Given the description of an element on the screen output the (x, y) to click on. 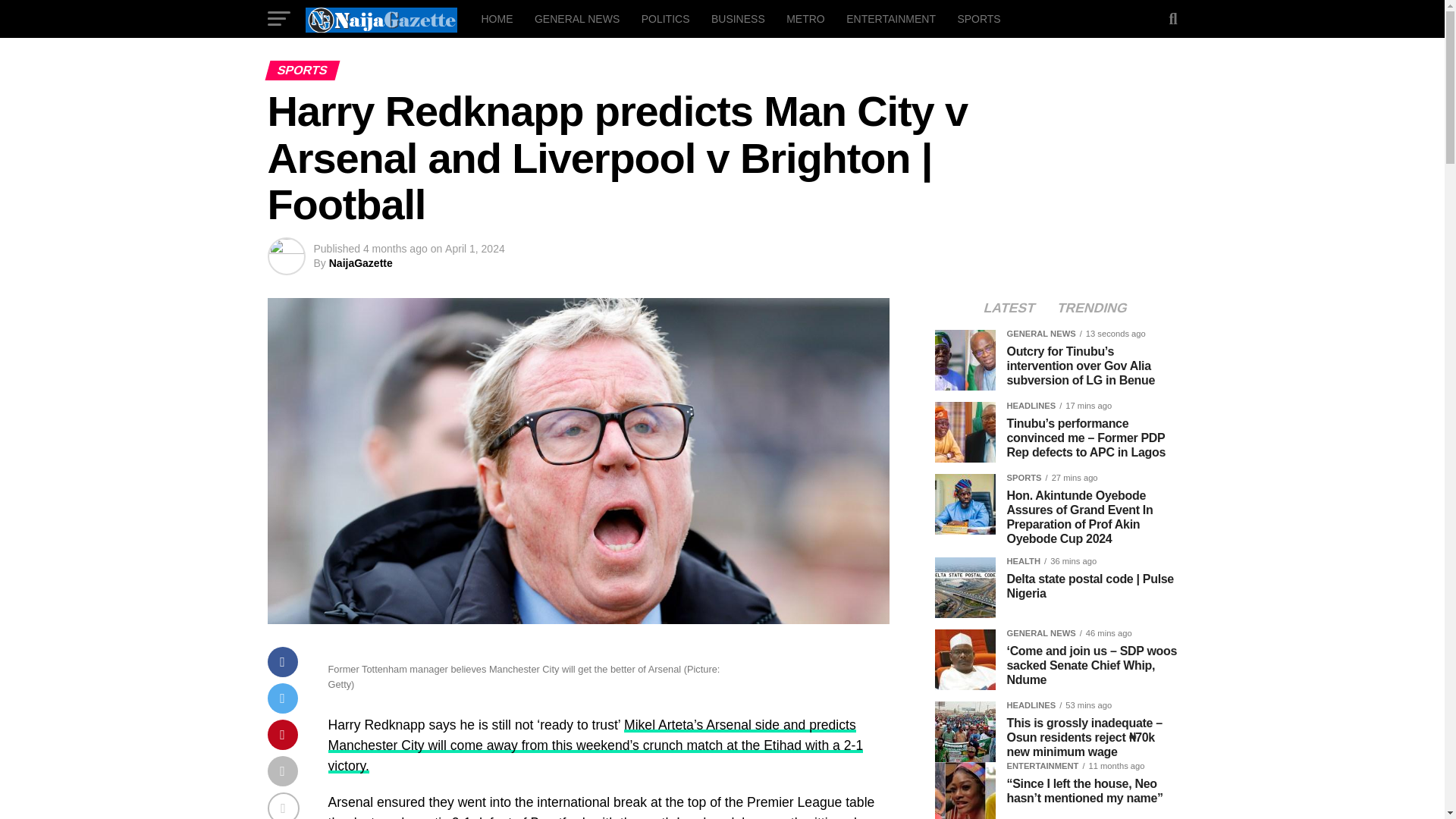
NaijaGazette (361, 263)
METRO (805, 18)
BUSINESS (737, 18)
SPORTS (978, 18)
GENERAL NEWS (576, 18)
POLITICS (664, 18)
Posts by NaijaGazette (361, 263)
ENTERTAINMENT (890, 18)
HOME (496, 18)
